Given the description of an element on the screen output the (x, y) to click on. 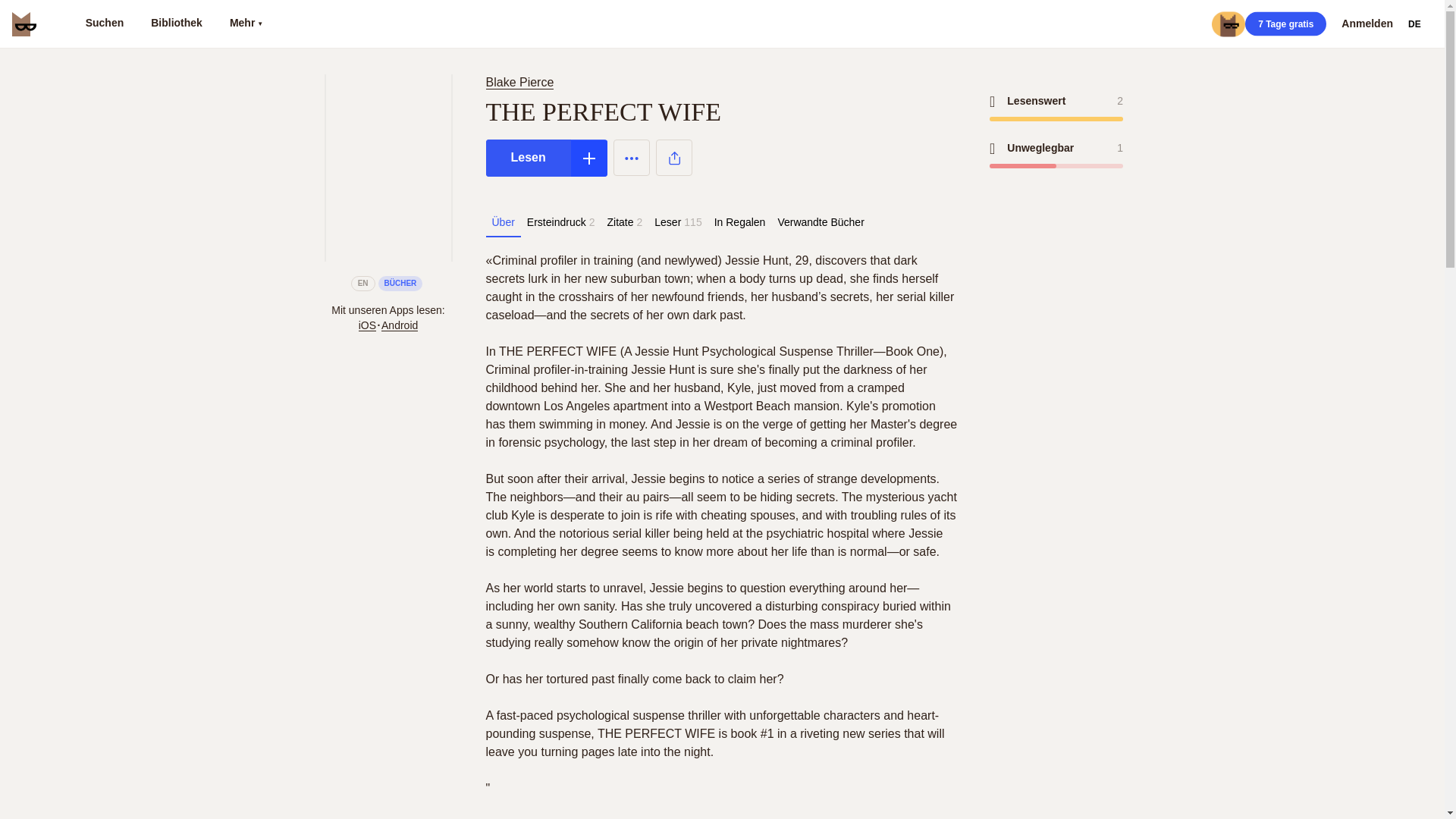
Lesen (527, 157)
In Regalen (739, 222)
7 Tage gratis (1285, 23)
Blake Pierce (518, 82)
Bibliothek (176, 24)
Blake Pierce (521, 82)
Zitate2 (623, 222)
Ersteindruck2 (561, 222)
